Given the description of an element on the screen output the (x, y) to click on. 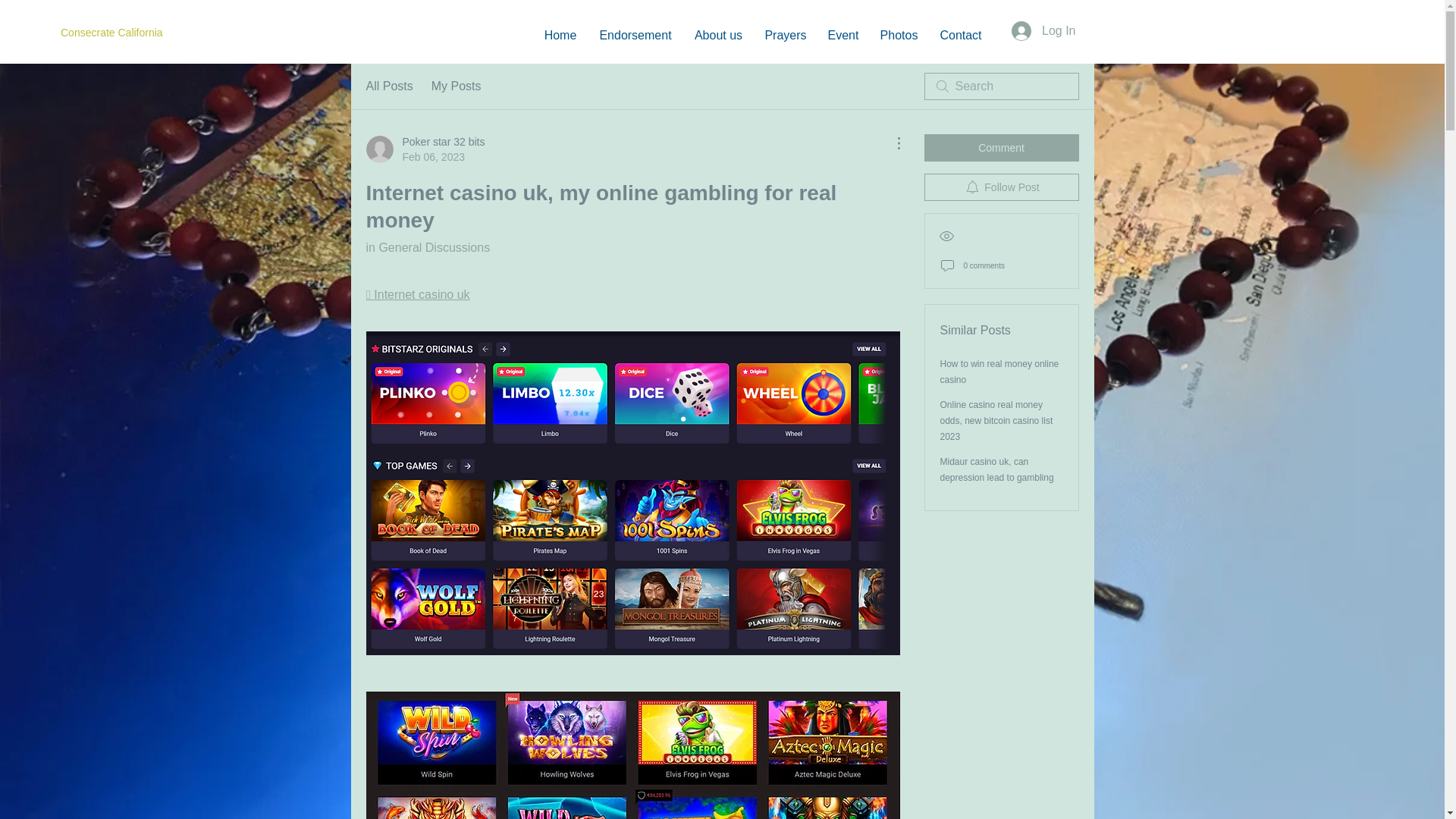
About us (718, 35)
Log In (1043, 30)
Event (842, 35)
Online casino real money odds, new bitcoin casino list 2023 (996, 420)
Midaur casino uk, can depression lead to gambling (424, 149)
Endorsement (997, 469)
Follow Post (635, 35)
Comment (1000, 186)
Home (1000, 147)
